Given the description of an element on the screen output the (x, y) to click on. 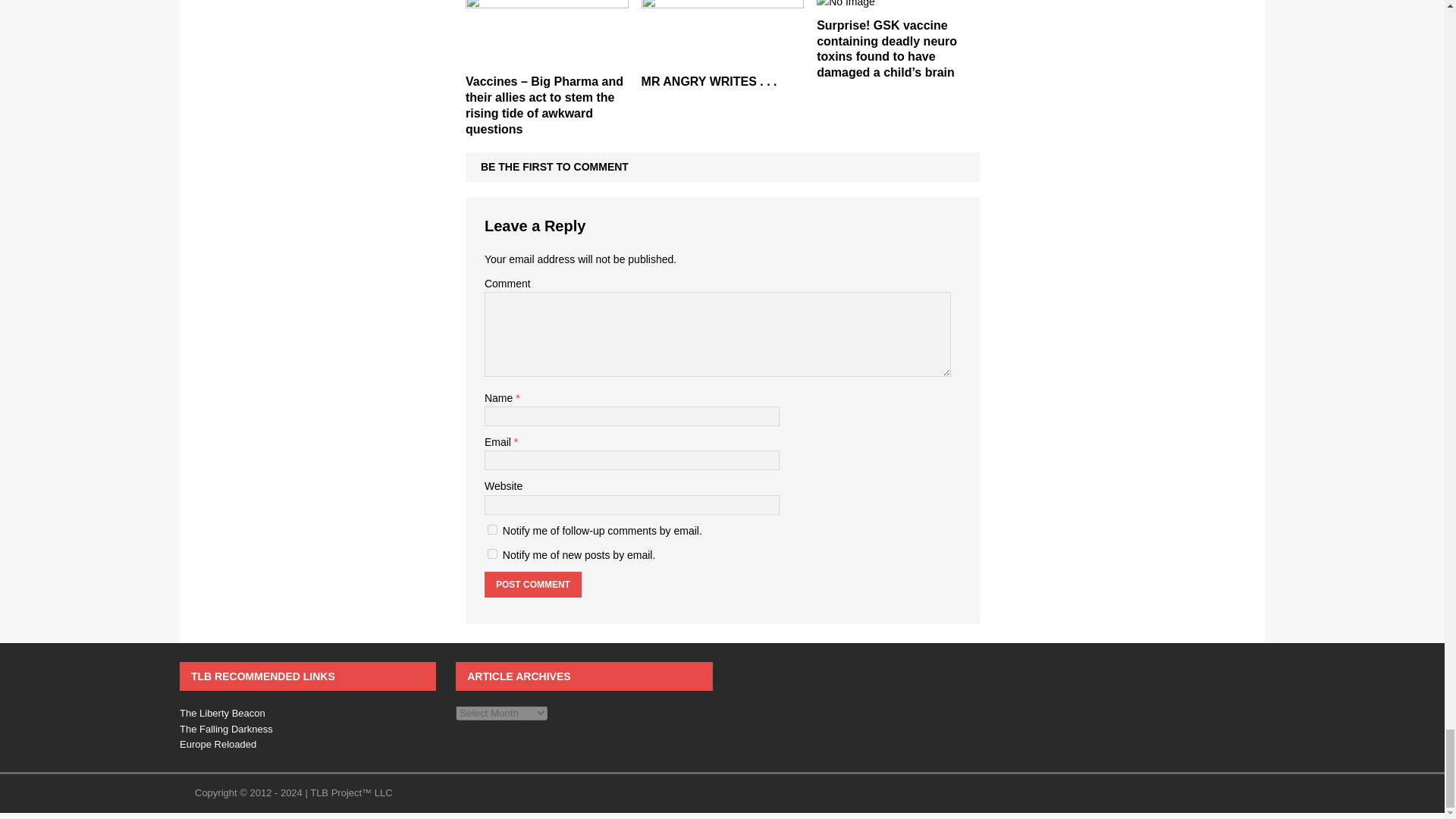
Post Comment (532, 584)
subscribe (492, 529)
subscribe (492, 553)
